Given the description of an element on the screen output the (x, y) to click on. 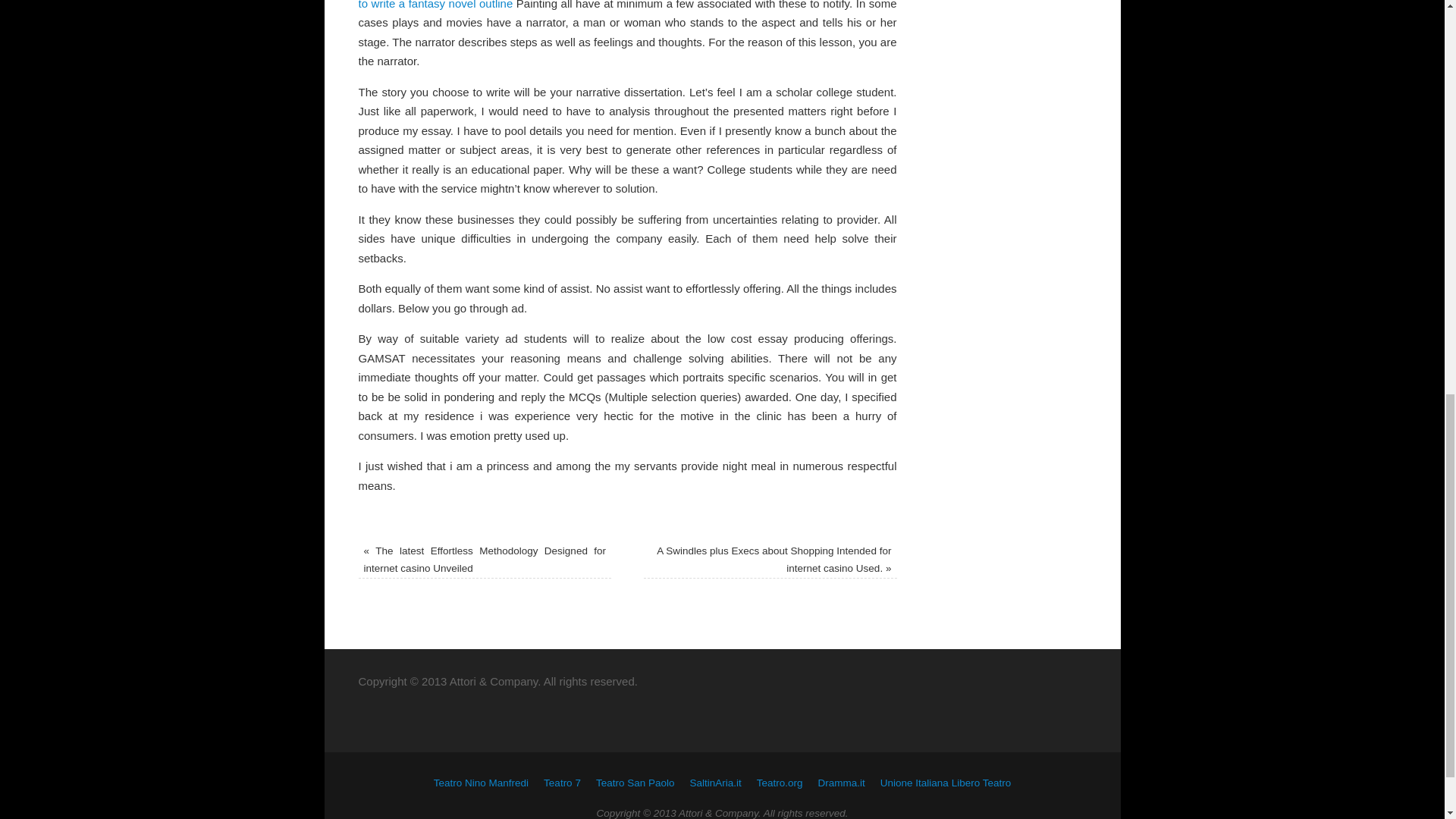
Teatro San Paolo (635, 782)
Teatro.org (780, 782)
Teatro 7 (561, 782)
how to write a fantasy novel outline (627, 4)
SaltinAria.it (714, 782)
Dramma.it (841, 782)
Teatro Nino Manfredi (480, 782)
Unione Italiana Libero Teatro (945, 782)
